Given the description of an element on the screen output the (x, y) to click on. 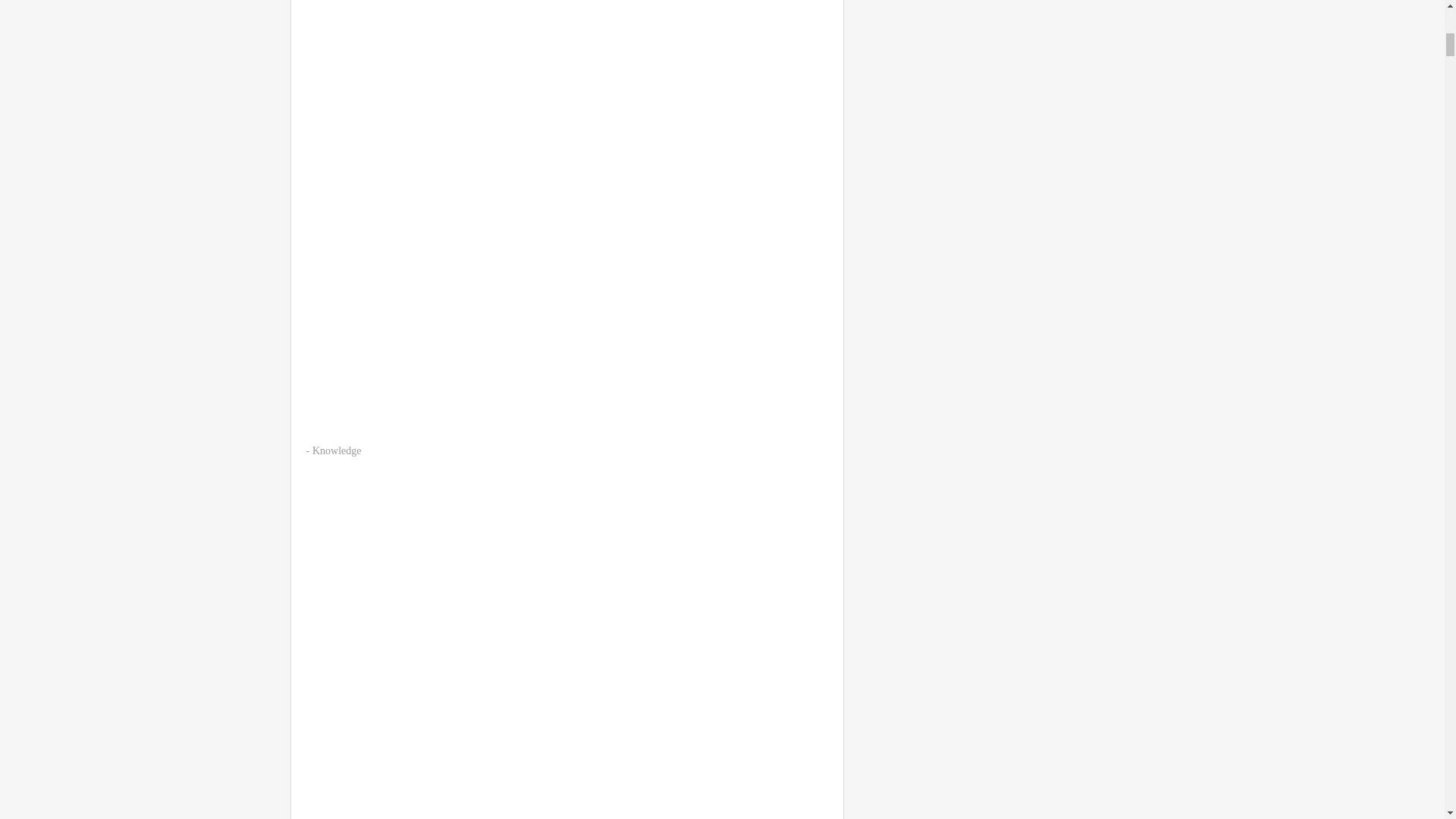
Knowledge (337, 450)
